Given the description of an element on the screen output the (x, y) to click on. 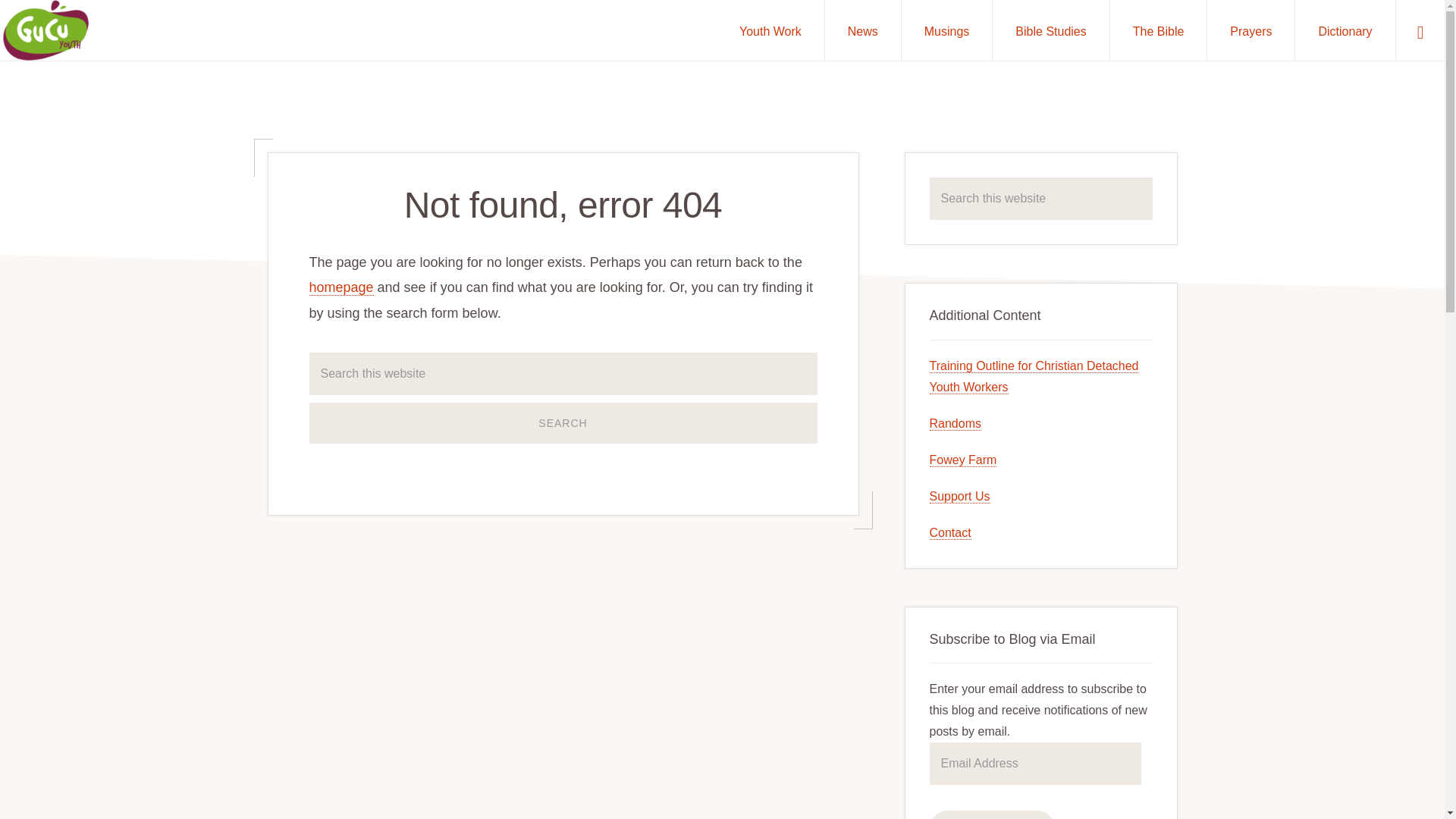
Training Outline for Christian Detached Youth Workers (1034, 376)
SUBSCRIBE (992, 814)
Prayers (1250, 30)
Search (562, 422)
homepage (341, 287)
News (863, 30)
Bible Studies (1050, 30)
Search (562, 422)
Musings (946, 30)
